Given the description of an element on the screen output the (x, y) to click on. 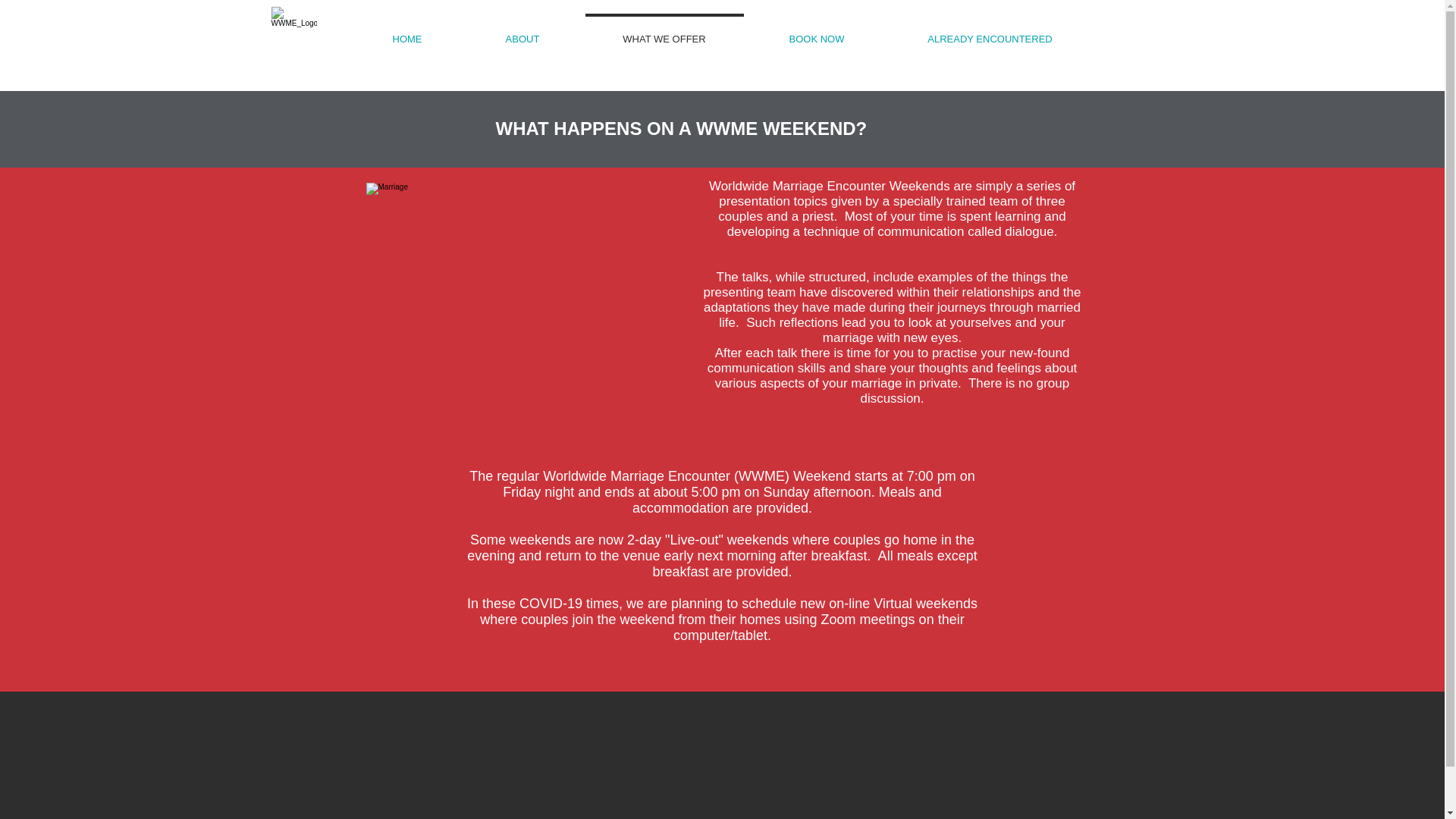
BOOK NOW Element type: text (816, 32)
ABOUT Element type: text (522, 32)
ALREADY ENCOUNTERED Element type: text (989, 32)
WHAT WE OFFER Element type: text (663, 32)
HOME Element type: text (406, 32)
